Given the description of an element on the screen output the (x, y) to click on. 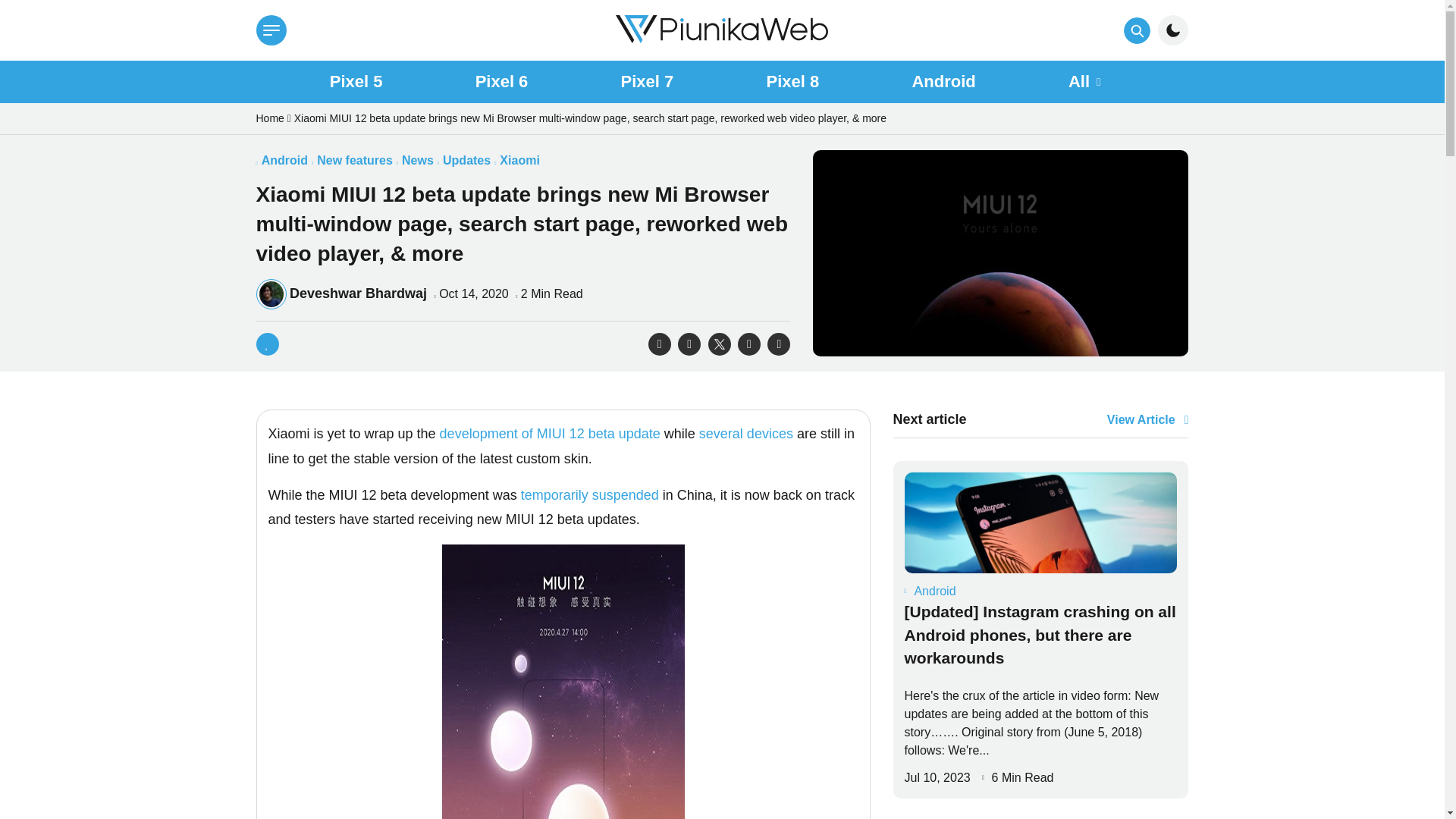
Pixel 6 (502, 81)
Xiaomi (518, 160)
Android (284, 160)
Pixel 7 (647, 81)
Android (944, 81)
Pixel 8 (792, 81)
Pixel 5 (356, 81)
New features (355, 160)
News (417, 160)
Updates (466, 160)
